Given the description of an element on the screen output the (x, y) to click on. 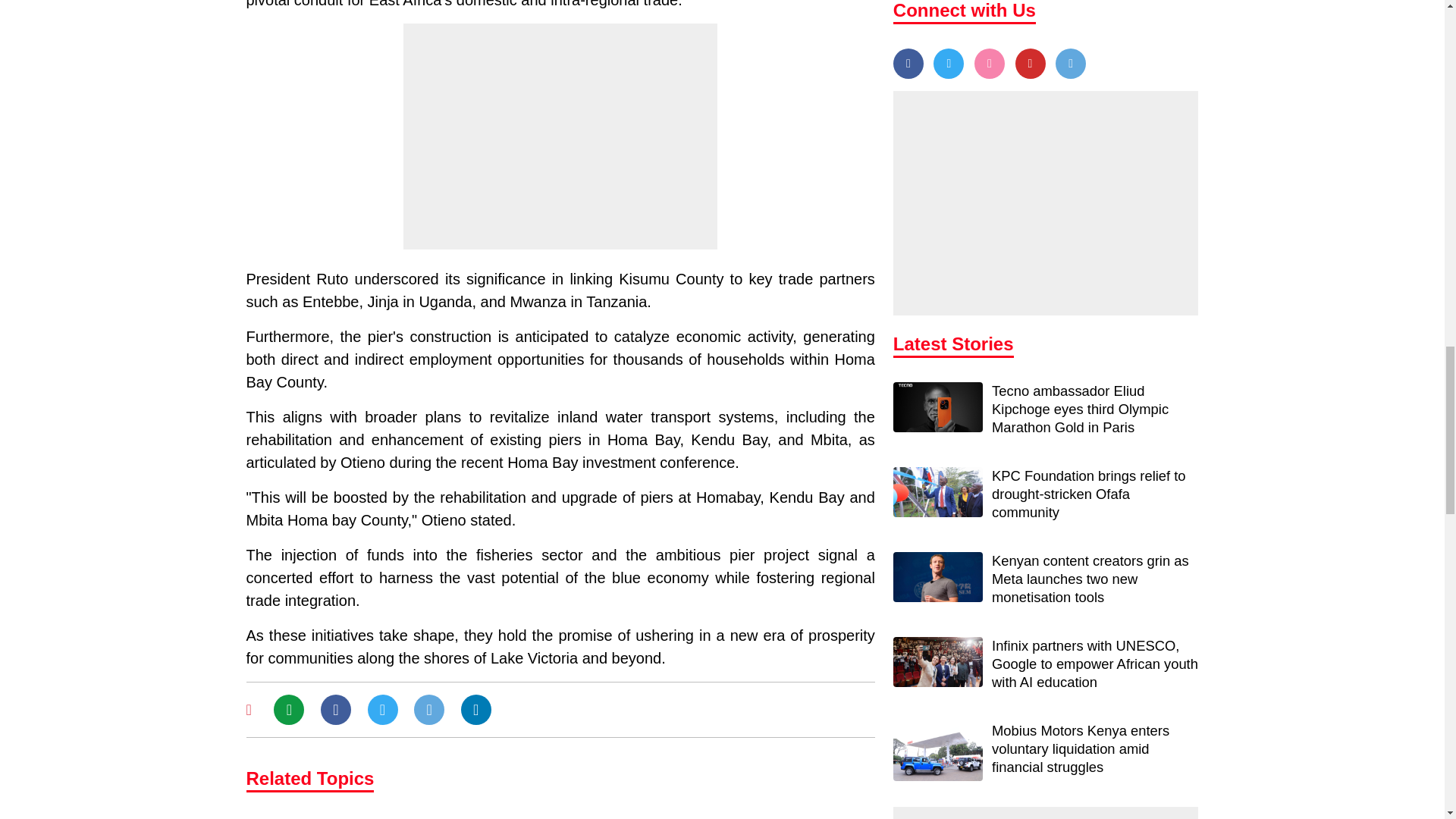
Share via Whatsapp (288, 709)
Share via Facebook (335, 709)
Share via Linked (476, 709)
Share via Twitter (381, 709)
Share via Telegram (428, 709)
